Given the description of an element on the screen output the (x, y) to click on. 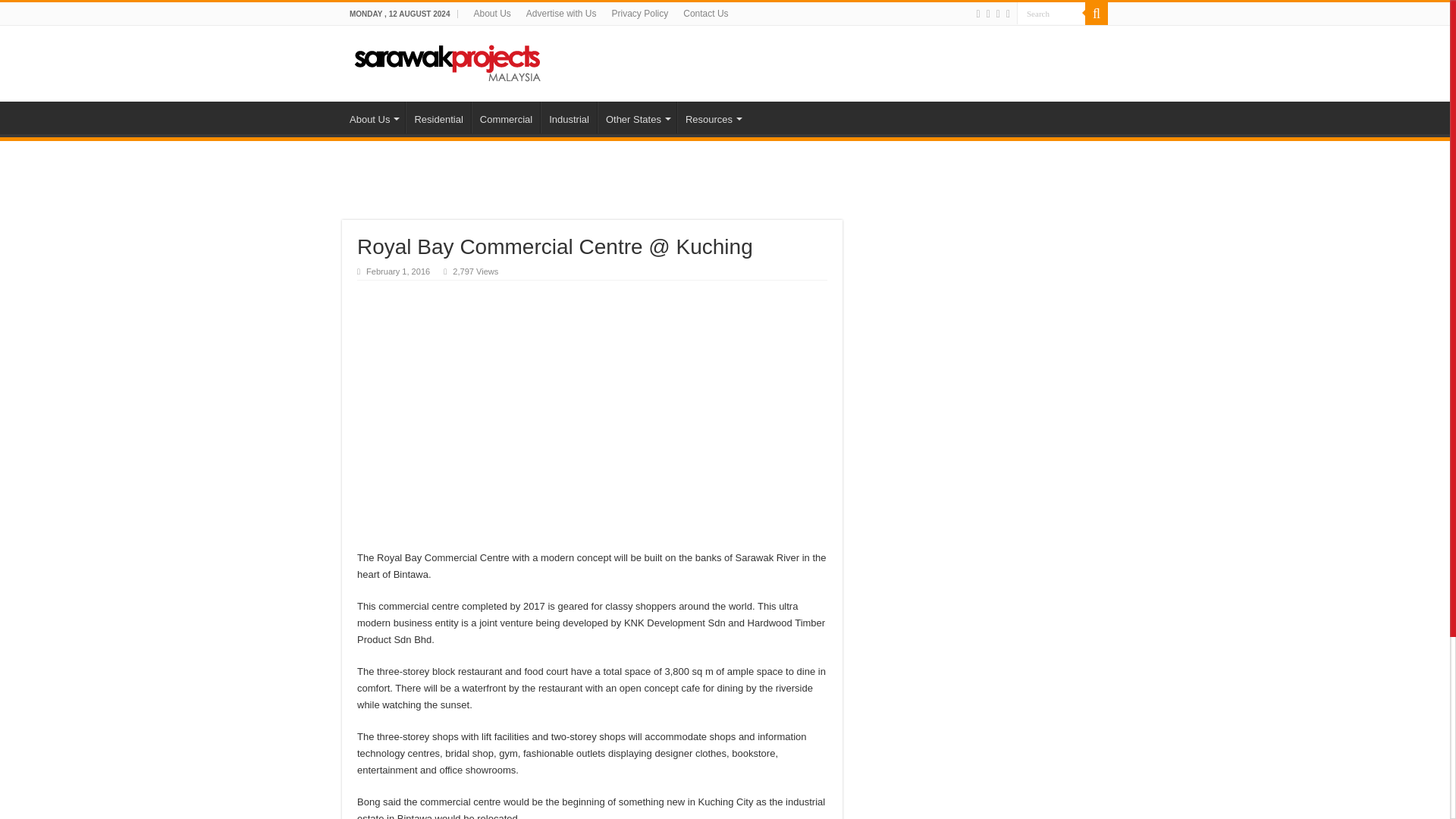
Industrial (568, 117)
Residential (438, 117)
About Us (373, 117)
Resources (712, 117)
Advertise with Us (561, 13)
Privacy Policy (640, 13)
Advertisement (592, 198)
Search (1096, 13)
Other States (636, 117)
About Us (491, 13)
